Given the description of an element on the screen output the (x, y) to click on. 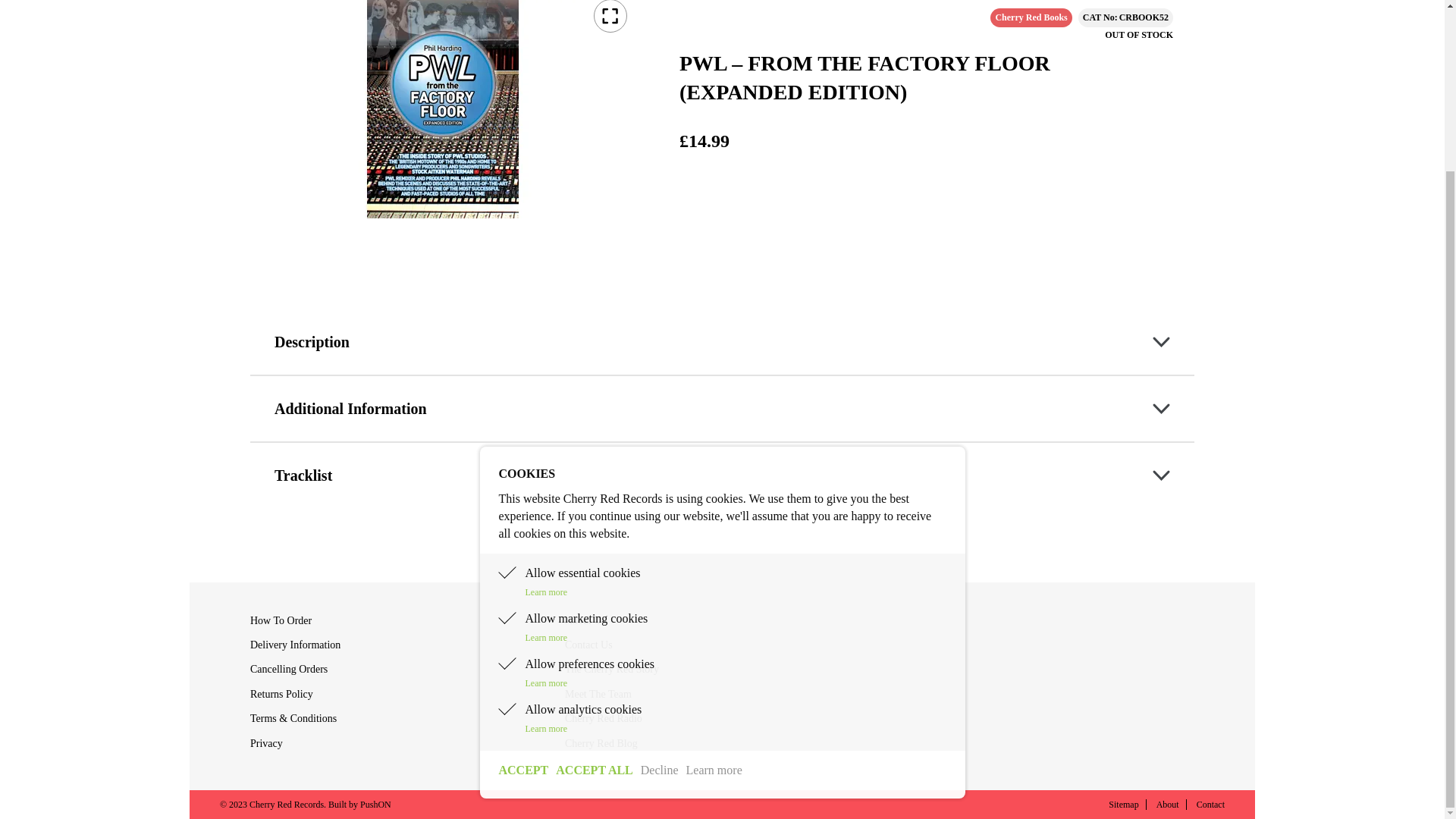
Availability (1139, 34)
